Given the description of an element on the screen output the (x, y) to click on. 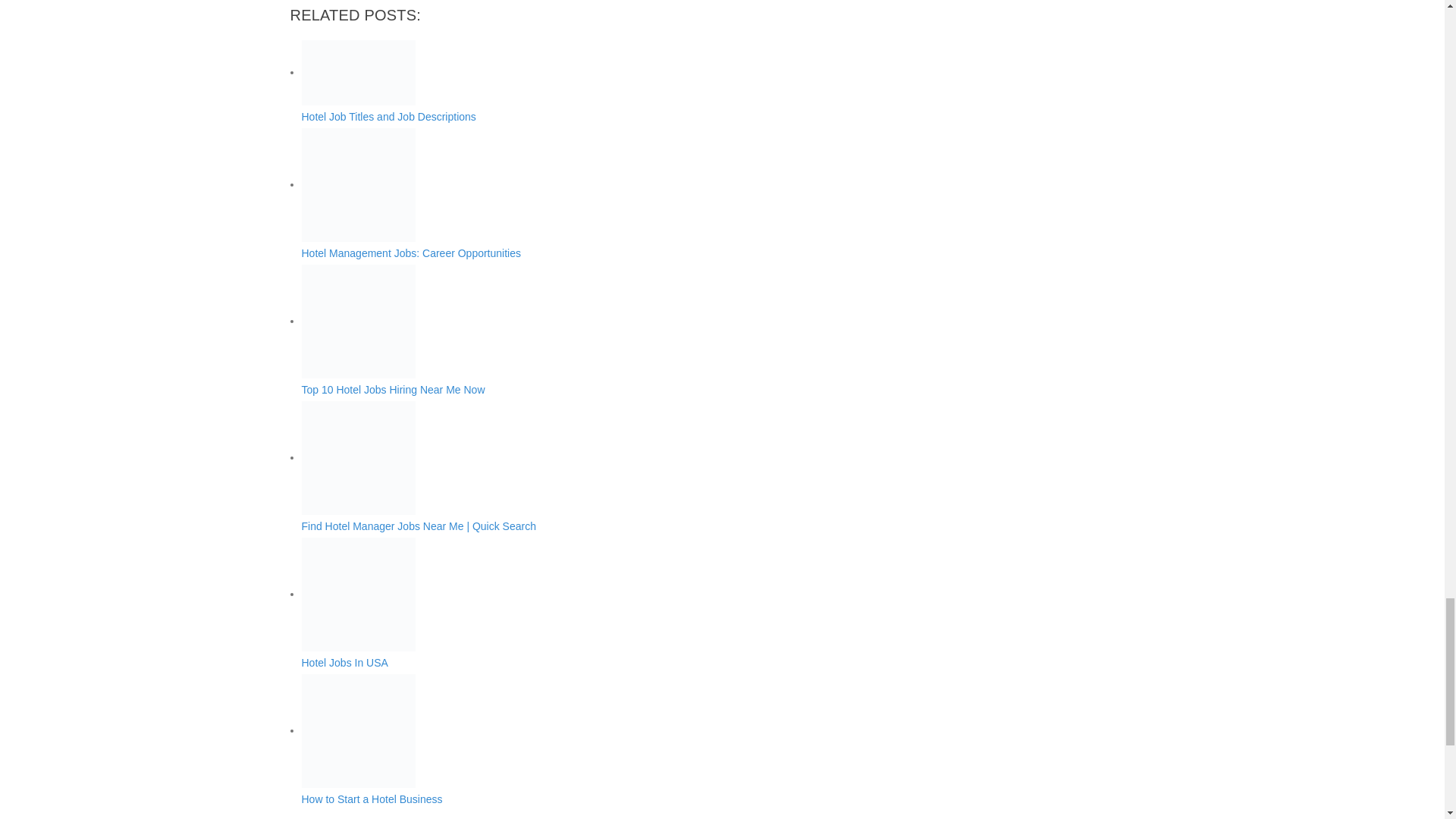
Top 10 Hotel Jobs Hiring Near Me Now (617, 329)
Hotel Job Titles and Job Descriptions (357, 72)
Hotel Job Titles and Job Descriptions (617, 81)
How to Start a Hotel Business (617, 739)
Hotel Management Jobs: Career Opportunities (357, 184)
Hotel Management Jobs: Career Opportunities (617, 193)
Top 10 Hotel Jobs Hiring Near Me Now (357, 321)
Hotel Jobs In USA (617, 603)
How to Start a Hotel Business (357, 730)
Hotel Jobs In USA (357, 594)
